Given the description of an element on the screen output the (x, y) to click on. 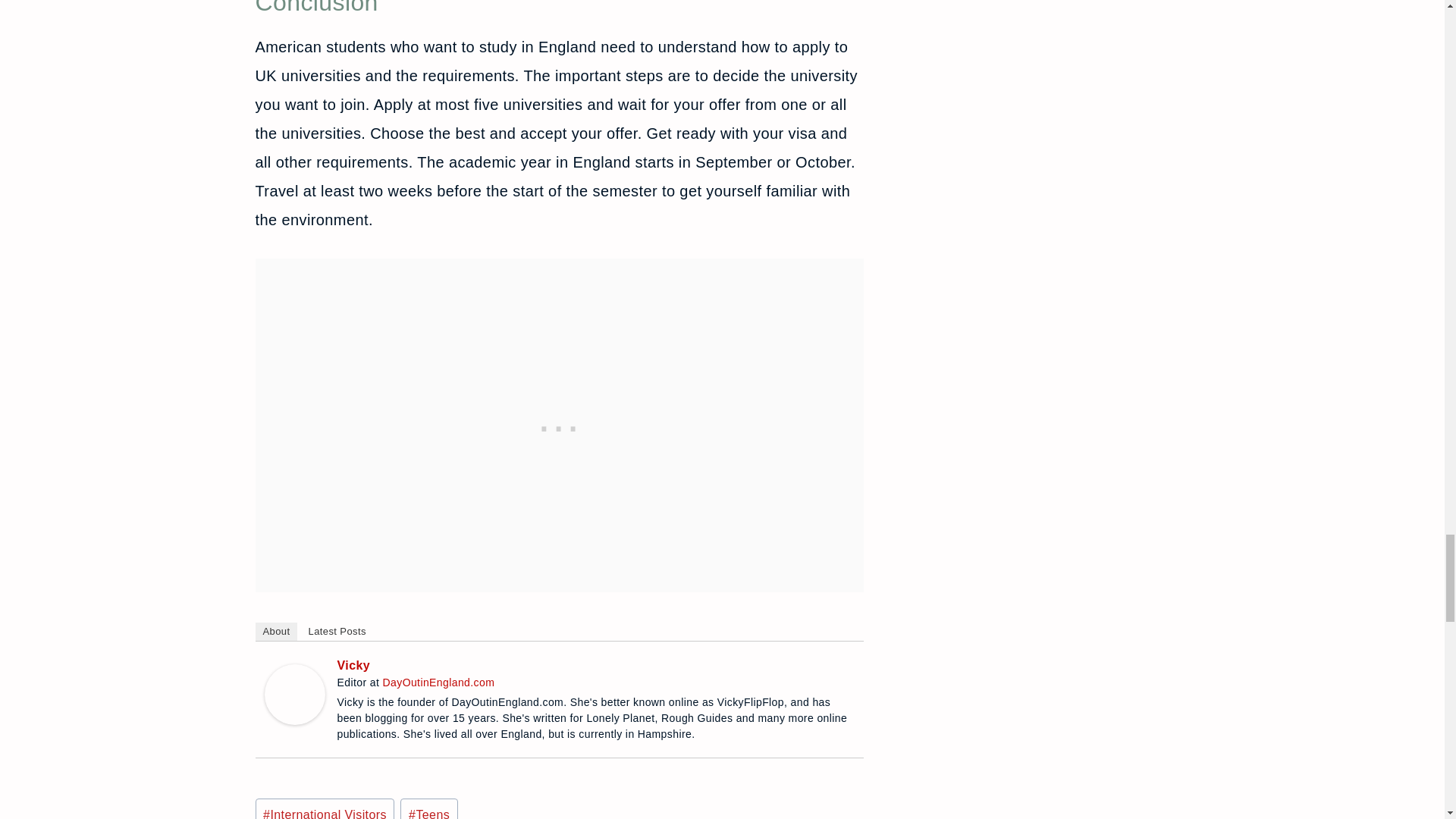
International Visitors (324, 808)
Teens (428, 808)
Vicky (293, 694)
